Given the description of an element on the screen output the (x, y) to click on. 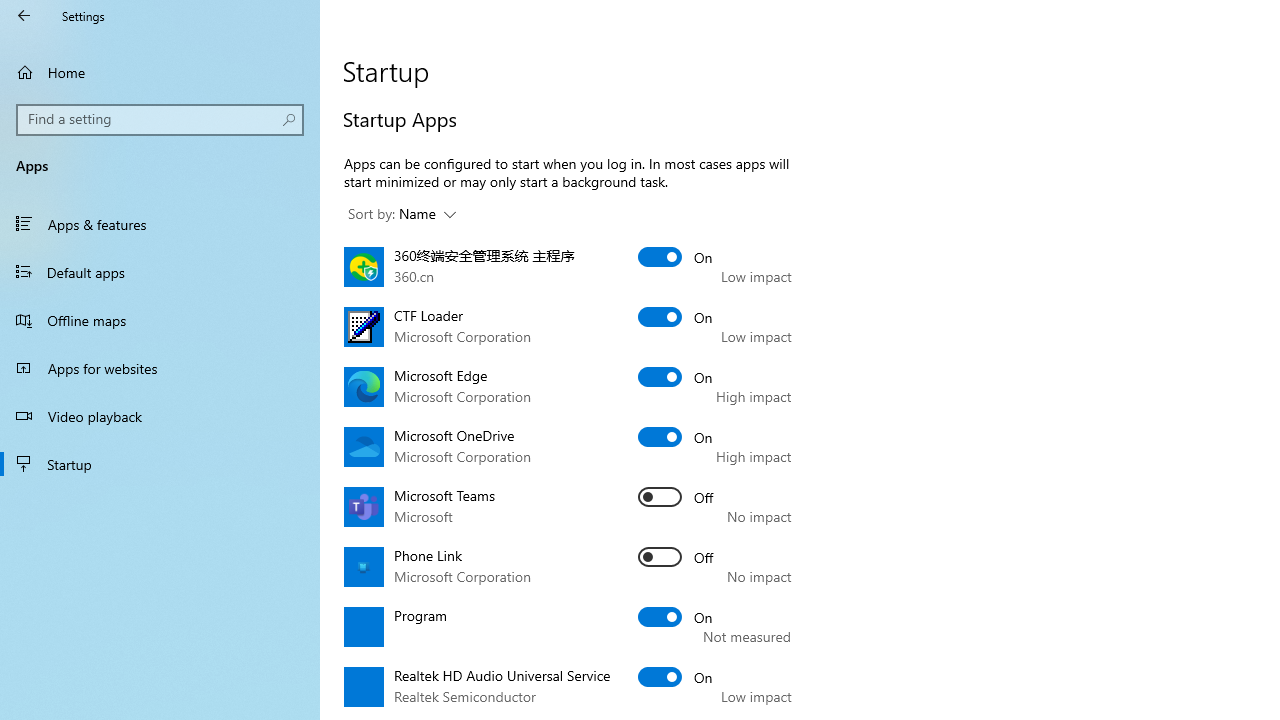
Search box, Find a setting (160, 119)
Apps & features (160, 223)
Default apps (160, 271)
Offline maps (160, 319)
Microsoft Teams (675, 496)
Apps for websites (160, 367)
Realtek HD Audio Universal Service (675, 676)
Phone Link (675, 556)
Program (675, 616)
Video playback (160, 415)
Microsoft OneDrive (675, 436)
